Given the description of an element on the screen output the (x, y) to click on. 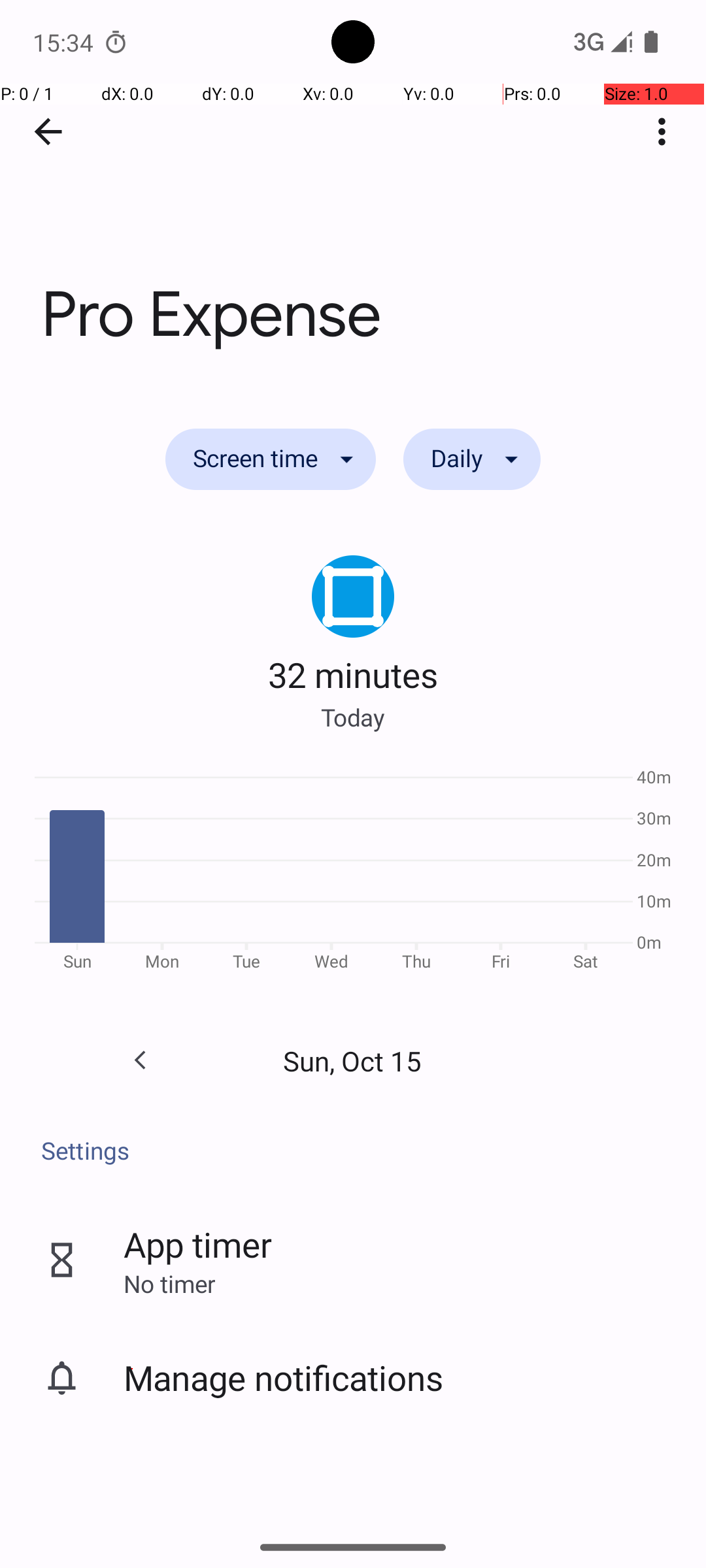
32 minutes Element type: android.widget.TextView (353, 674)
Bar Chart. Showing App usage data with 7 data points. Element type: android.view.ViewGroup (353, 873)
